Given the description of an element on the screen output the (x, y) to click on. 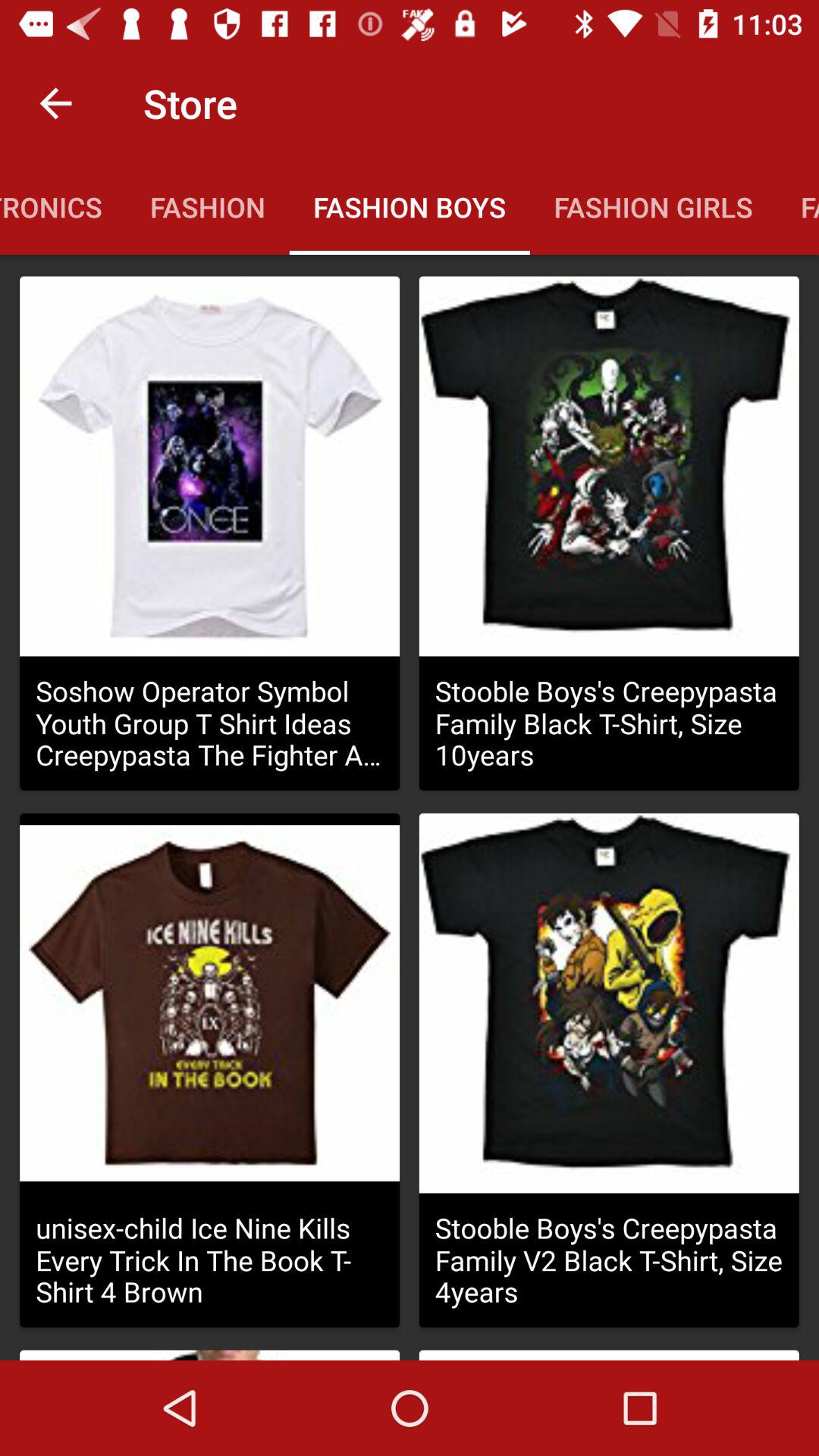
click item above the electronics icon (55, 103)
